Given the description of an element on the screen output the (x, y) to click on. 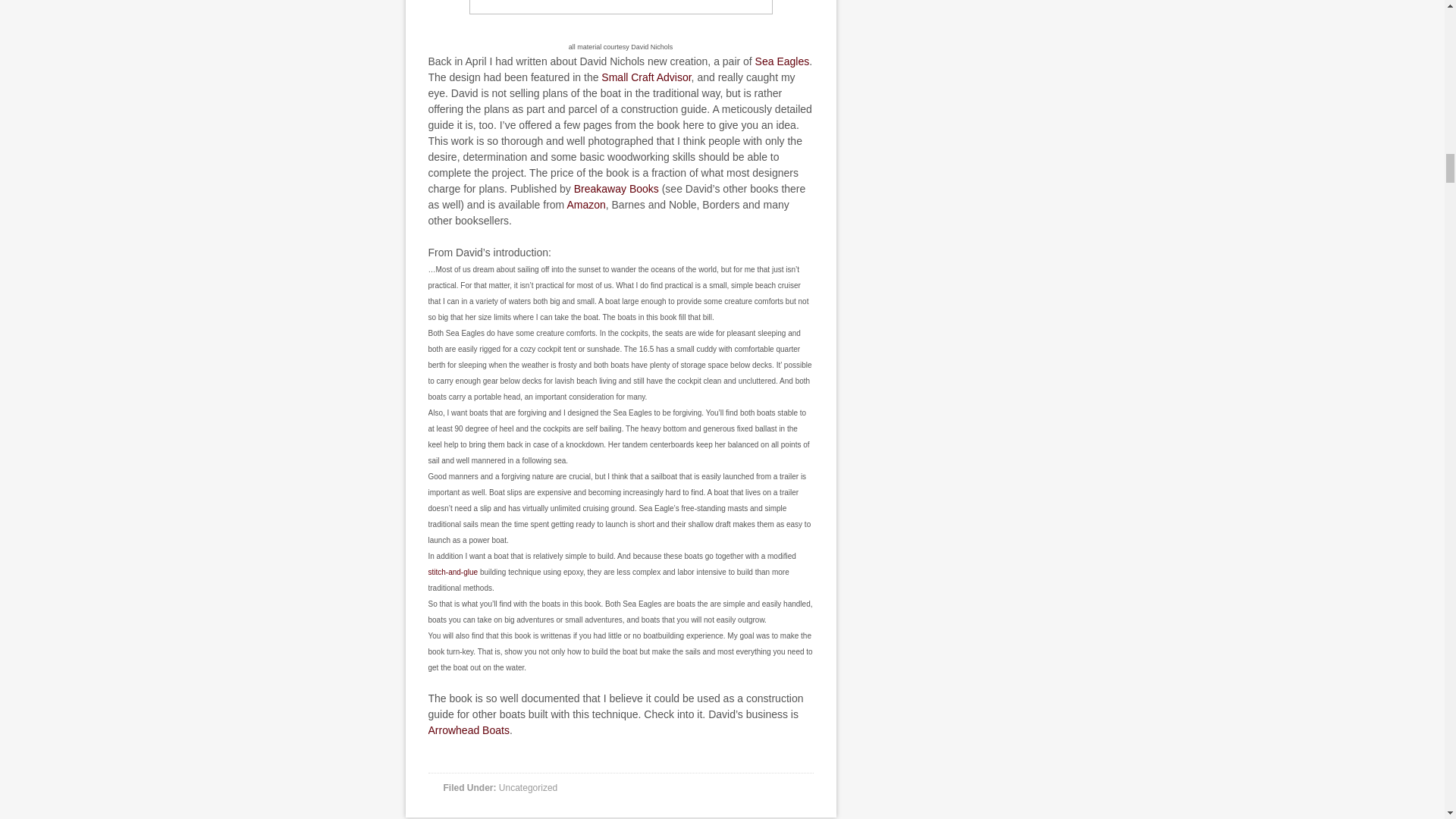
Uncategorized (528, 787)
Arrowhead Boats (468, 729)
Amazon (585, 204)
Breakaway Books (616, 188)
stitch-and-glue (453, 572)
Sea Eagles (782, 61)
Small Craft Advisor (645, 77)
